Given the description of an element on the screen output the (x, y) to click on. 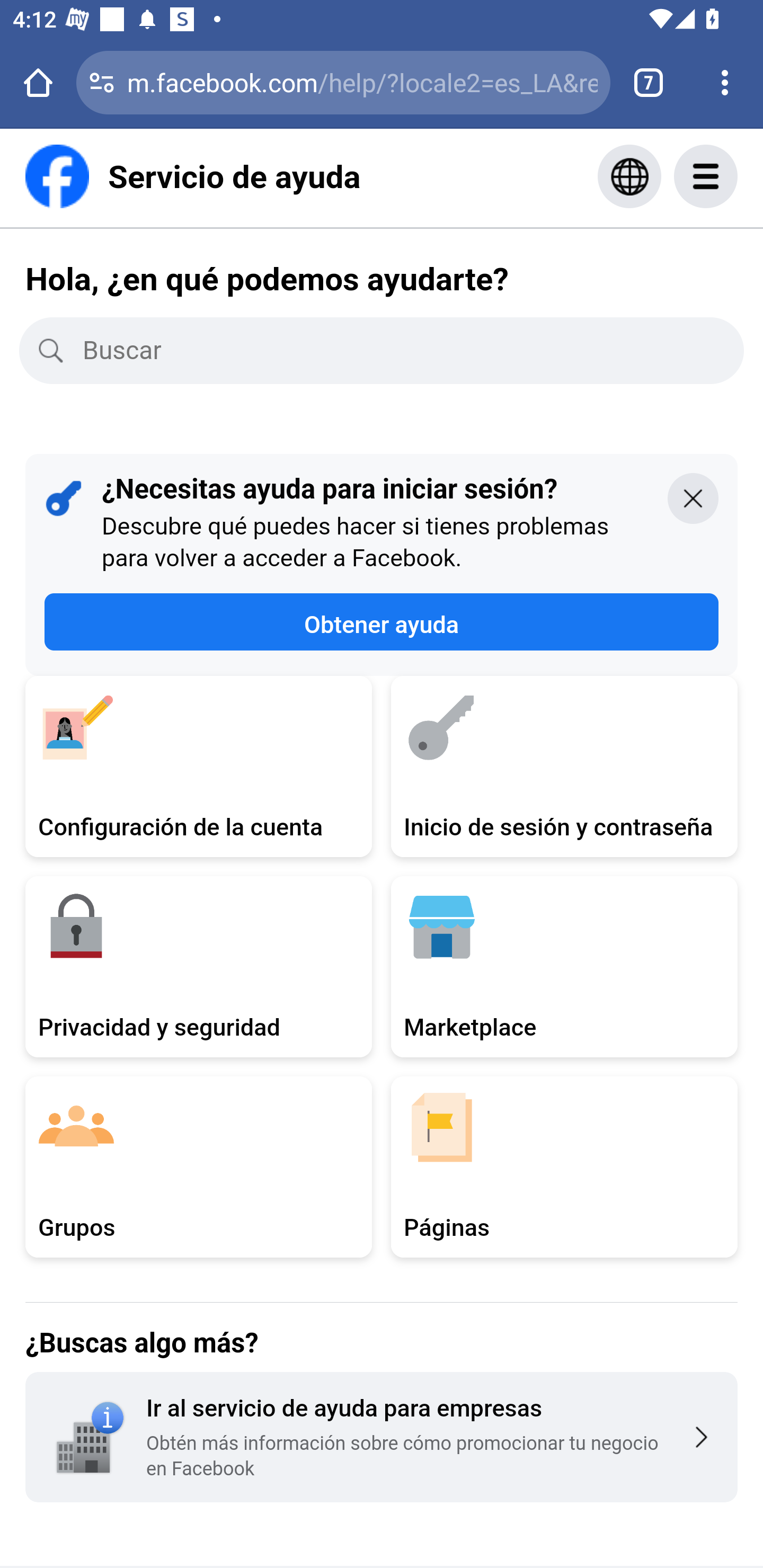
Open the home page (38, 82)
Connection is secure (101, 82)
Switch or close tabs (648, 82)
Customize and control Google Chrome (724, 82)
m.facebook.com/help/?locale2=es_LA&refid=9 (362, 82)
Servicio de ayuda S9-8mgjtmdP Servicio de ayuda (192, 176)
Seleccionar el idioma (629, 176)
Menú del servicio de ayuda (724, 176)
Cerrar (692, 497)
Obtener ayuda (381, 622)
